Given the description of an element on the screen output the (x, y) to click on. 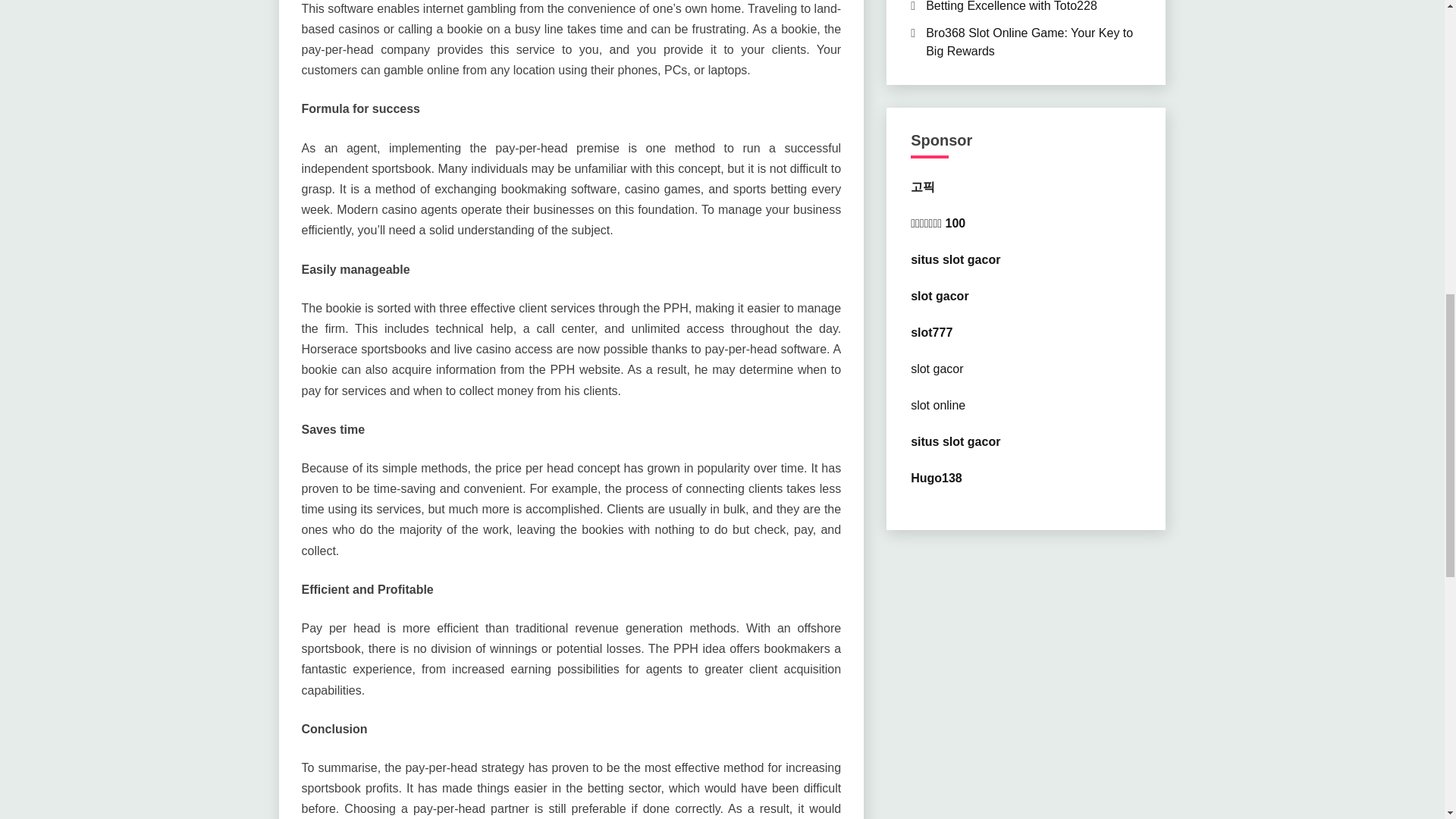
Betting Excellence with Toto228 (1011, 6)
